Given the description of an element on the screen output the (x, y) to click on. 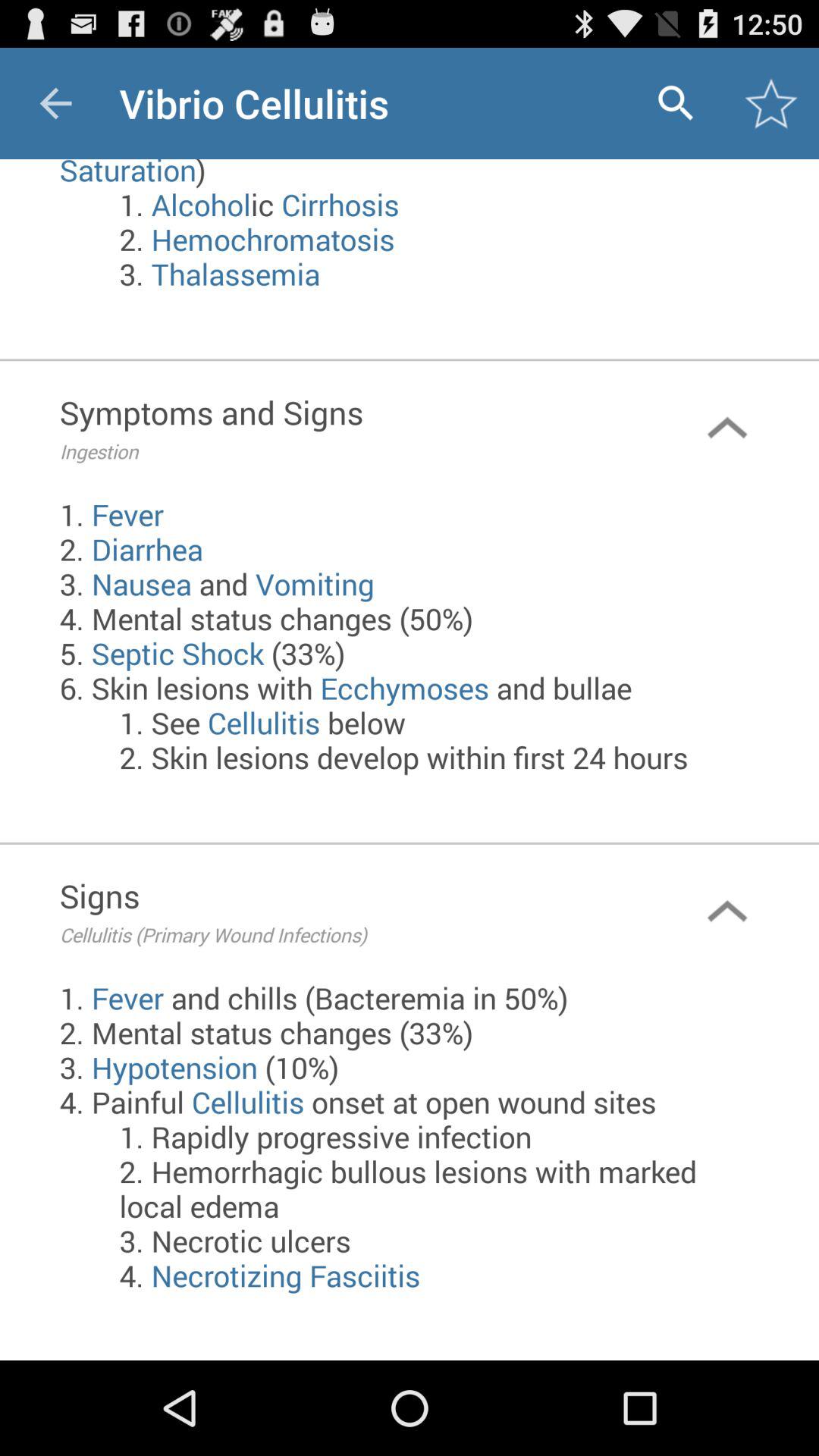
flip until the signs cellulitis primary item (347, 911)
